Given the description of an element on the screen output the (x, y) to click on. 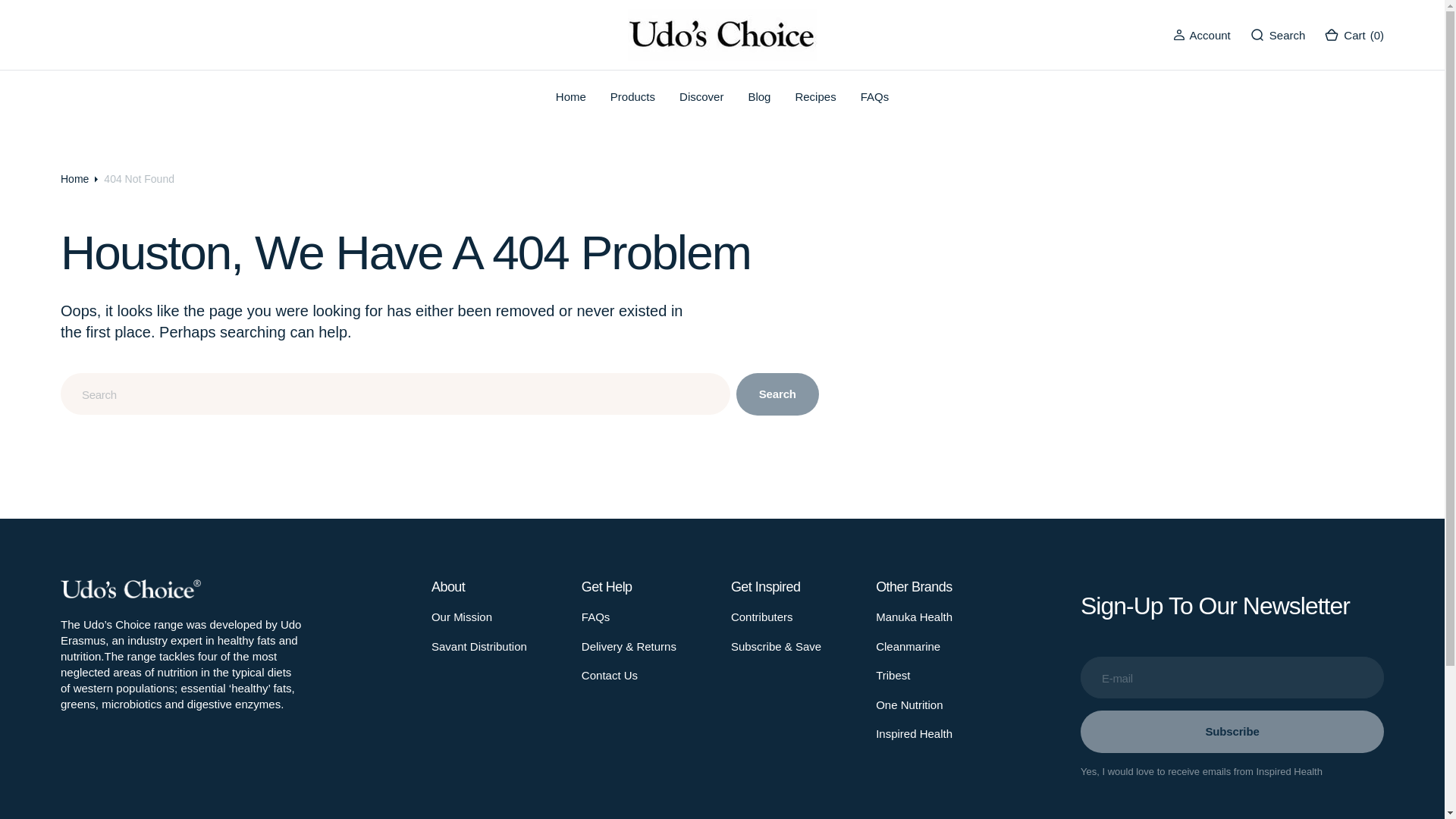
Home (570, 96)
Search (1277, 35)
Account (1209, 35)
Discover (701, 96)
FAQs (874, 96)
Recipes (814, 96)
Home (74, 179)
Search (1287, 35)
Blog (759, 96)
Products (632, 96)
Home (571, 96)
Products (632, 96)
Search (1277, 35)
Discover (700, 96)
